Given the description of an element on the screen output the (x, y) to click on. 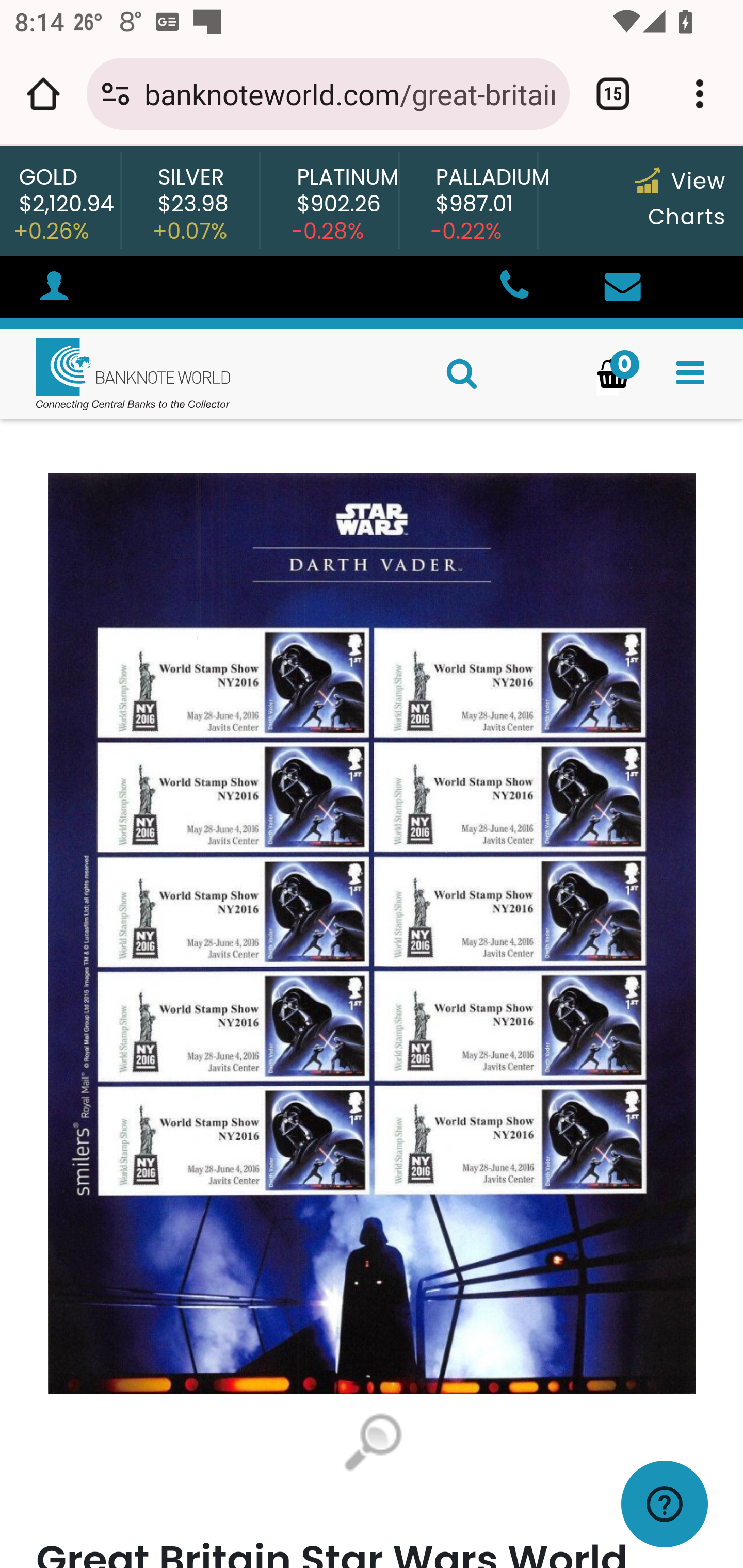
Open the home page (43, 93)
Connection is secure (115, 93)
Switch or close tabs (612, 93)
Customize and control Google Chrome (699, 93)
View Charts (680, 199)
 (513, 287)
 (622, 287)
# (54, 289)
Home (115, 373)
 (690, 373)
Zoom image (371, 1443)
